Given the description of an element on the screen output the (x, y) to click on. 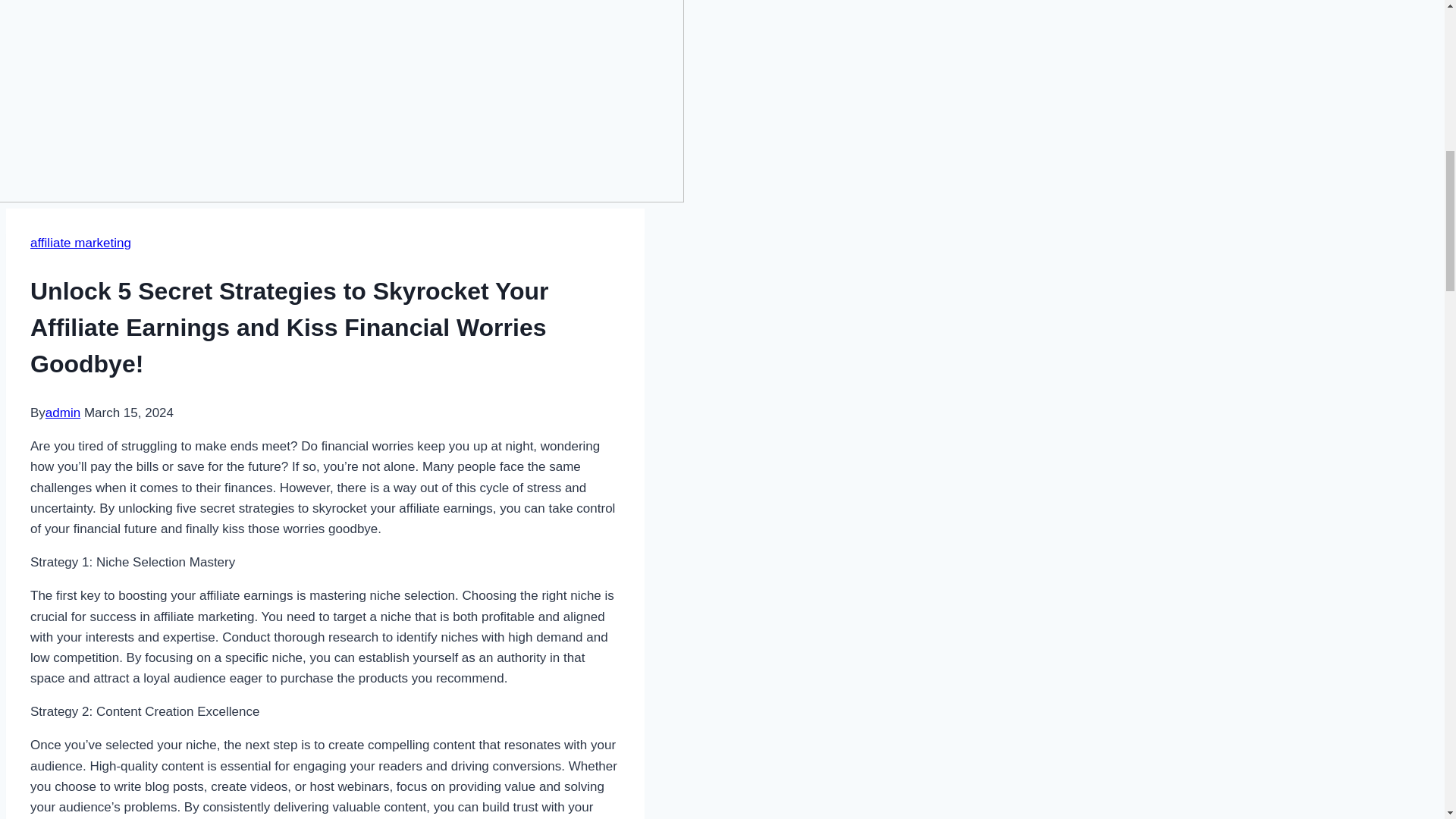
admin (62, 412)
affiliate marketing (80, 242)
